Given the description of an element on the screen output the (x, y) to click on. 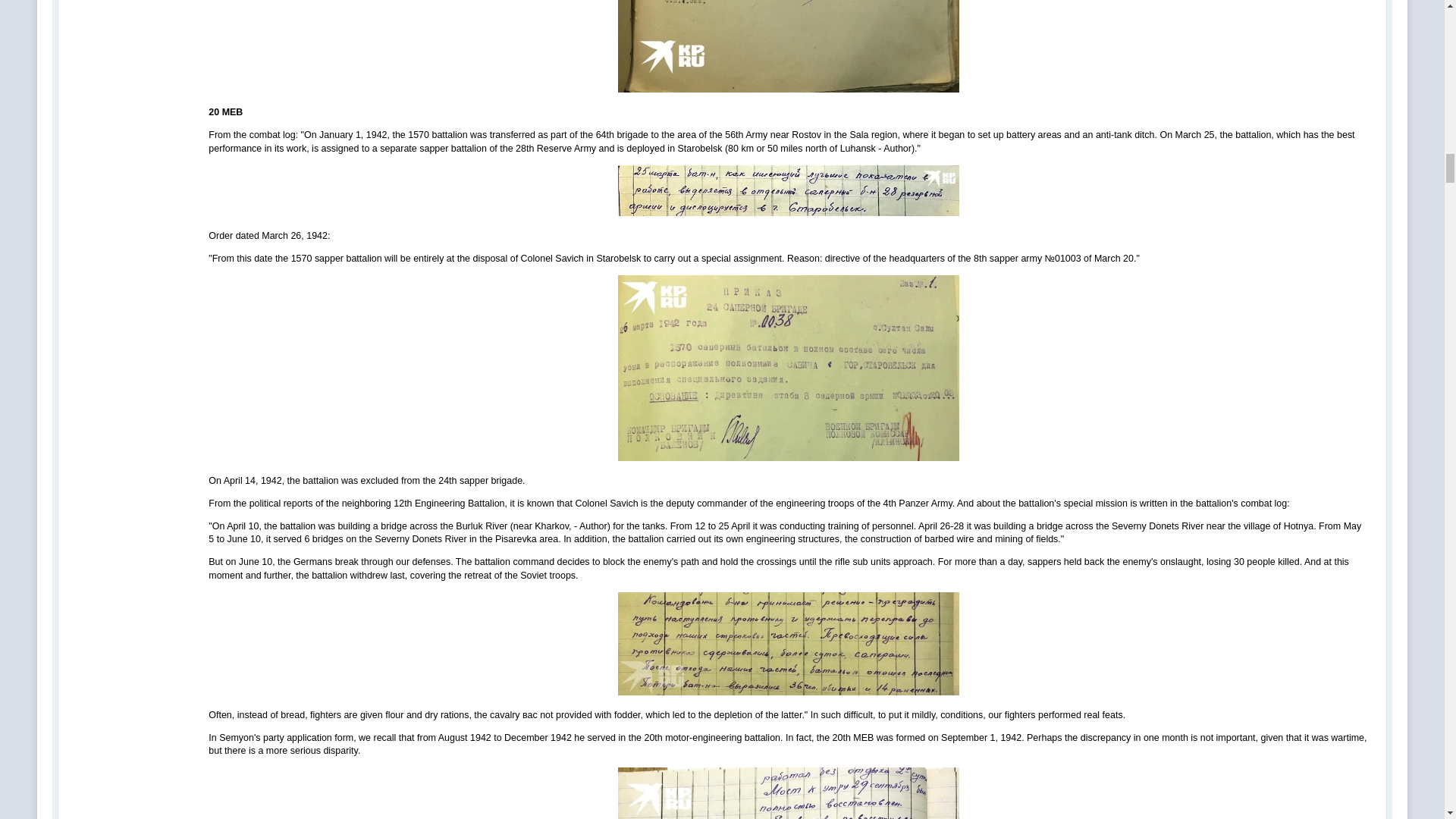
Semyon Zolotaryov documents (788, 368)
Semyon Zolotaryov documents (788, 793)
Semyon Zolotaryov documents (788, 643)
Semyon Zolotaryov documents (788, 191)
Semyon Zolotaryov documents (788, 46)
